Given the description of an element on the screen output the (x, y) to click on. 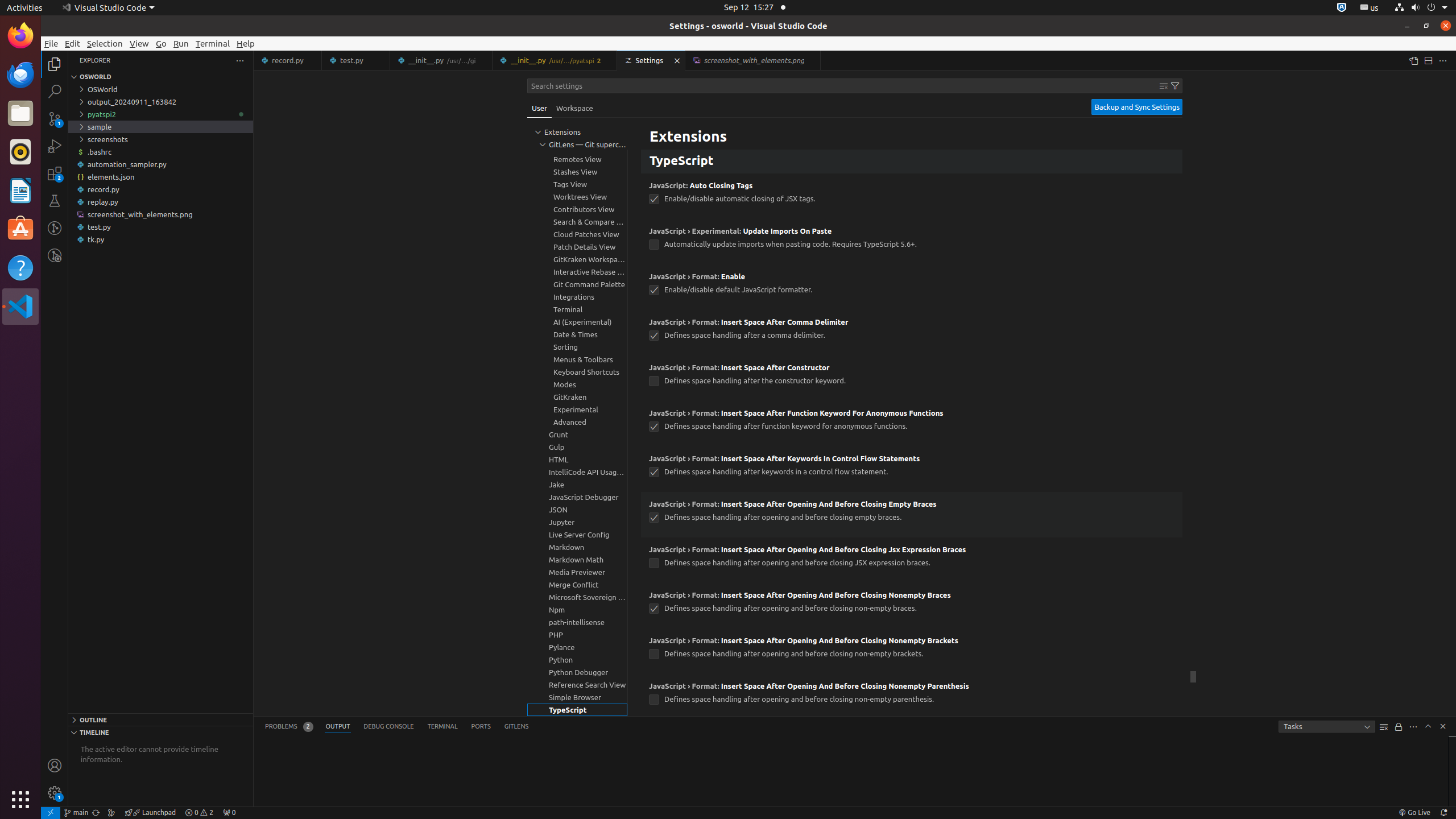
Source Control (Ctrl+Shift+G G) - 1 pending changes Source Control (Ctrl+Shift+G G) - 1 pending changes Element type: page-tab (54, 118)
Cloud Patches View, group Element type: tree-item (577, 234)
JavaScript › Format Insert Space After Keywords In Control Flow Statements. Defines space handling after keywords in a control flow statement.  Element type: tree-item (911, 468)
Stashes View, group Element type: tree-item (577, 171)
Jupyter, group Element type: tree-item (577, 521)
